Given the description of an element on the screen output the (x, y) to click on. 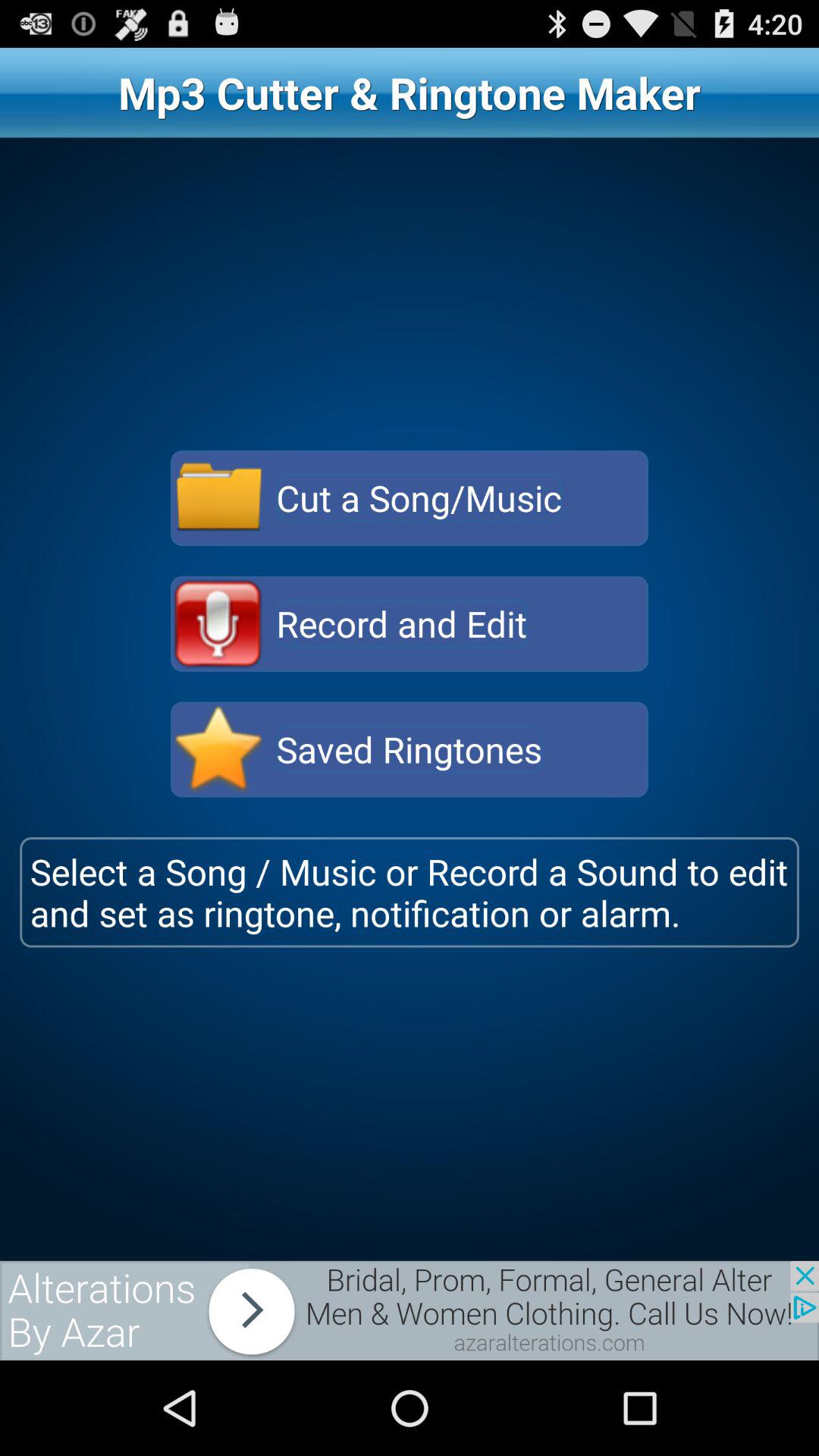
go to saved ringtones (218, 749)
